Given the description of an element on the screen output the (x, y) to click on. 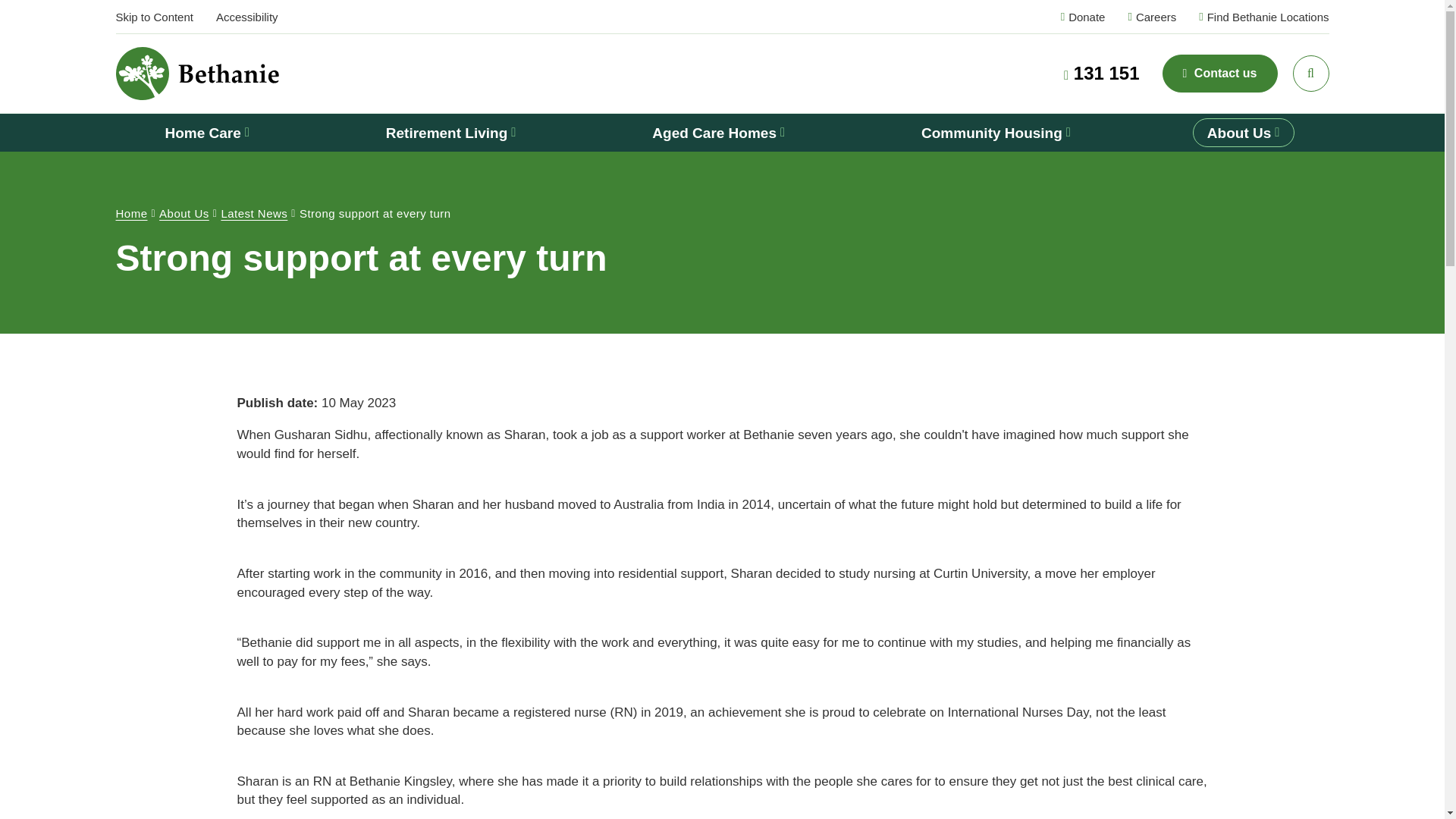
Donate (1083, 17)
Aged Care Homes (718, 132)
Accessibility (246, 17)
131 151 (1102, 73)
Community Housing (995, 132)
Skip to Content (153, 17)
Careers (1151, 17)
Home Care (206, 132)
Find Bethanie Locations (1262, 17)
Contact us (1219, 73)
